Given the description of an element on the screen output the (x, y) to click on. 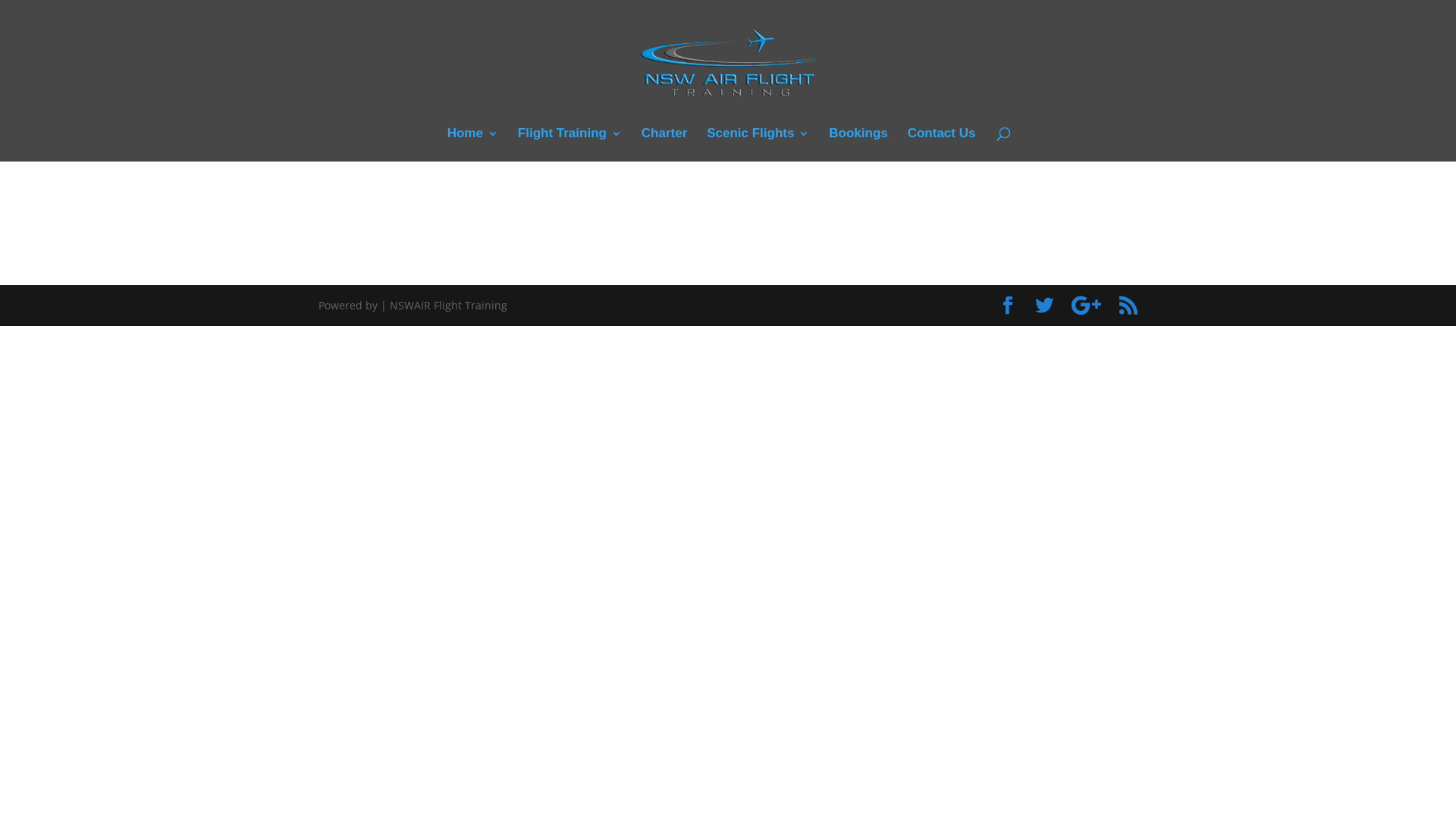
Bookings Element type: text (857, 144)
Flight Training Element type: text (569, 144)
Contact Us Element type: text (941, 144)
Charter Element type: text (664, 144)
Scenic Flights Element type: text (757, 144)
Home Element type: text (472, 144)
